Given the description of an element on the screen output the (x, y) to click on. 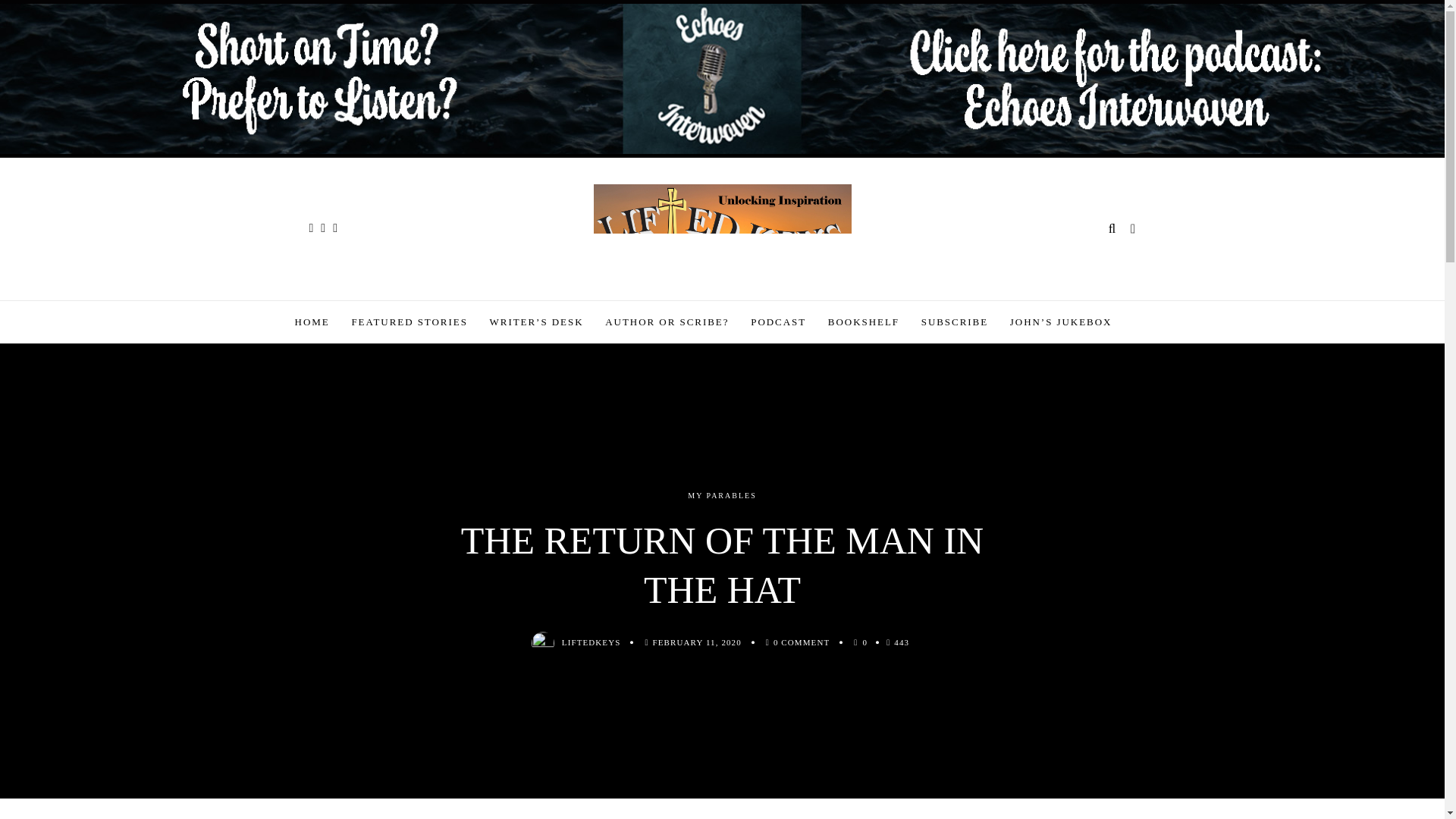
LIFTEDKEYS (591, 642)
0 COMMENT (801, 642)
BOOKSHELF (863, 322)
PODCAST (778, 322)
0 (864, 642)
MY PARABLES (721, 495)
Posts by liftedkeys (591, 642)
SUBSCRIBE (954, 322)
AUTHOR OR SCRIBE? (667, 322)
Like (864, 642)
